Given the description of an element on the screen output the (x, y) to click on. 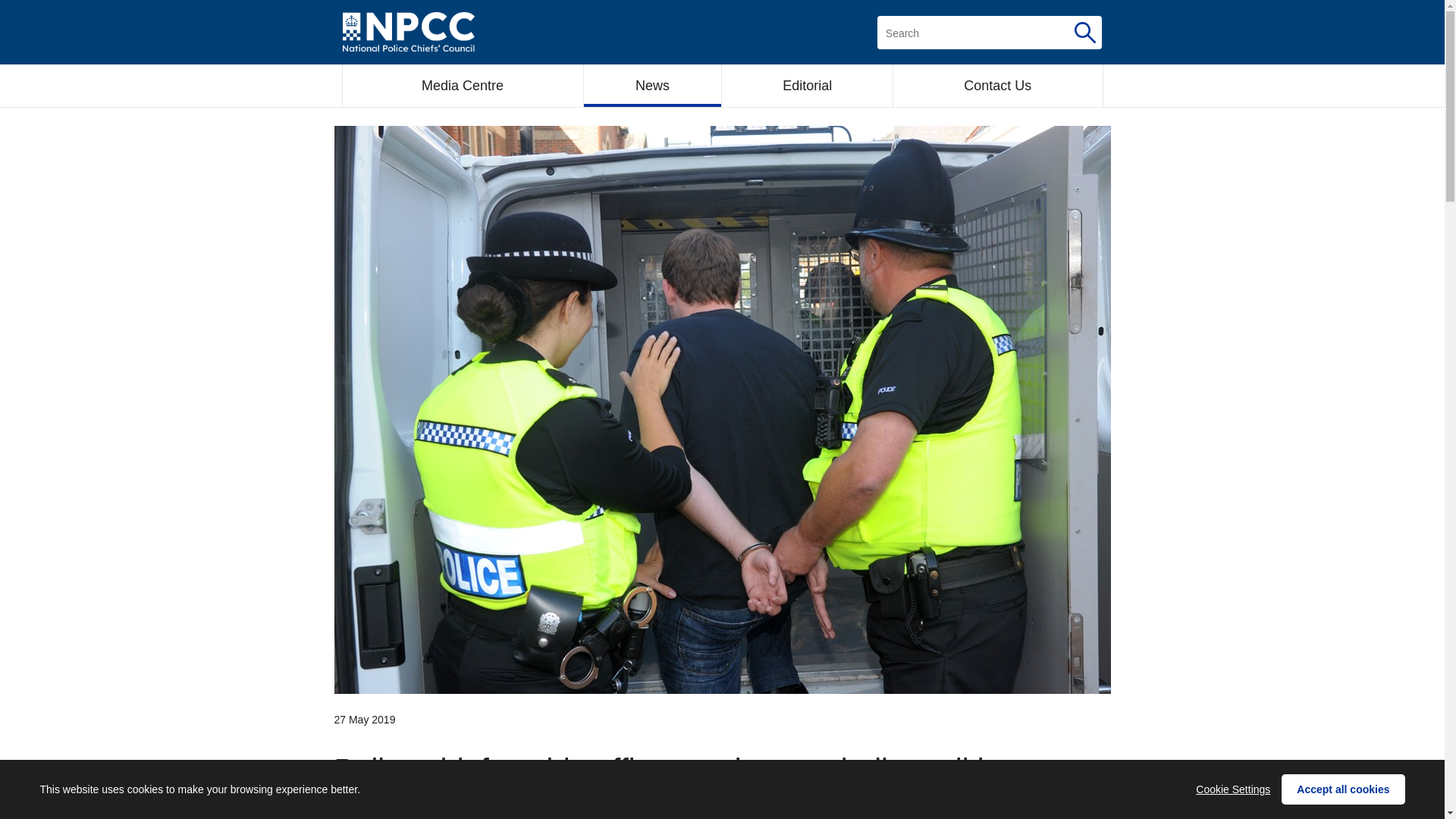
Media Centre (462, 85)
News (652, 85)
Editorial (806, 85)
home page (408, 32)
Contact Us (997, 85)
